Given the description of an element on the screen output the (x, y) to click on. 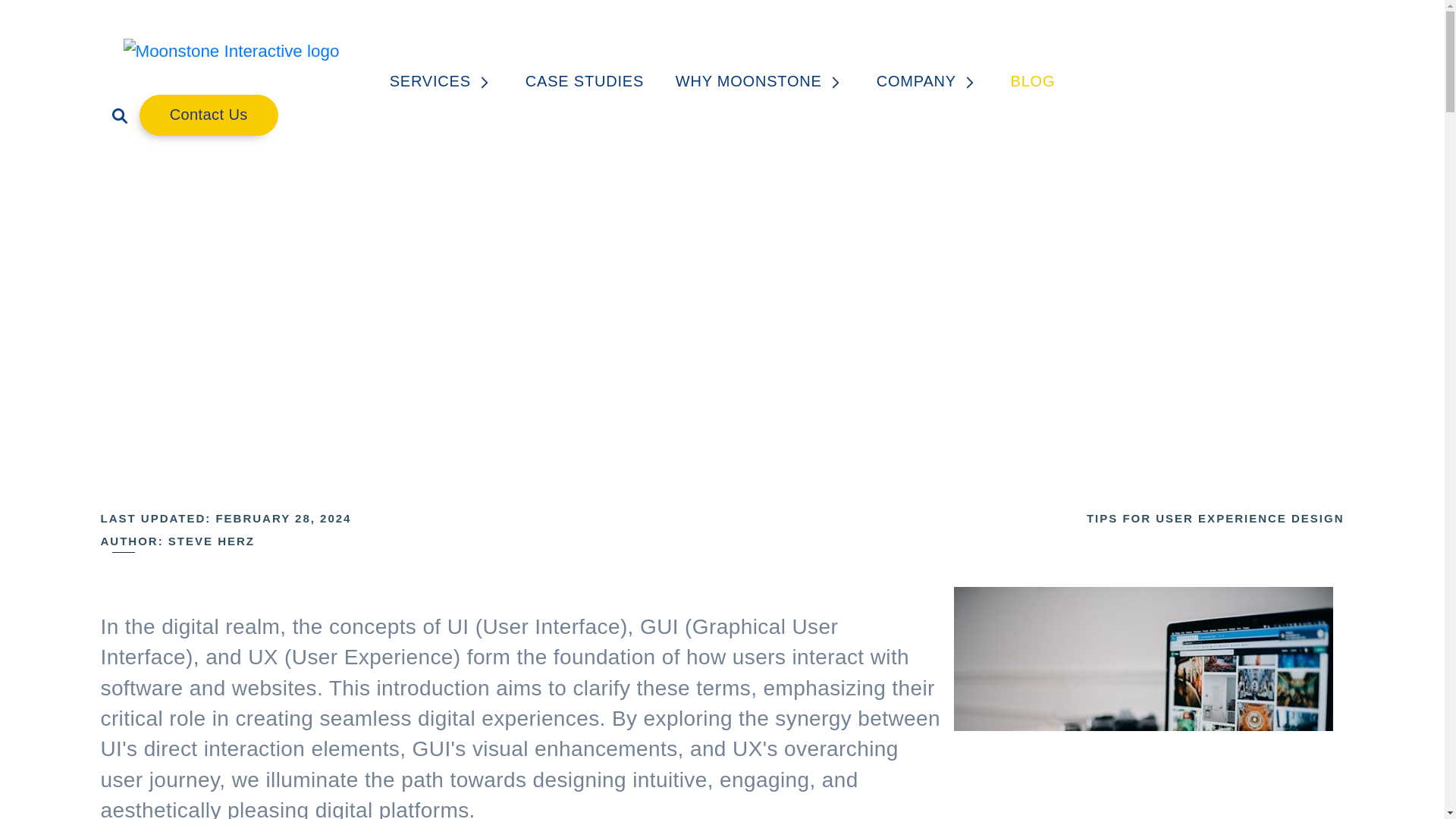
SERVICES (441, 81)
WHY MOONSTONE (759, 81)
CASE STUDIES (584, 81)
BLOG (1032, 81)
Contact Us (208, 115)
COMPANY (927, 81)
